Given the description of an element on the screen output the (x, y) to click on. 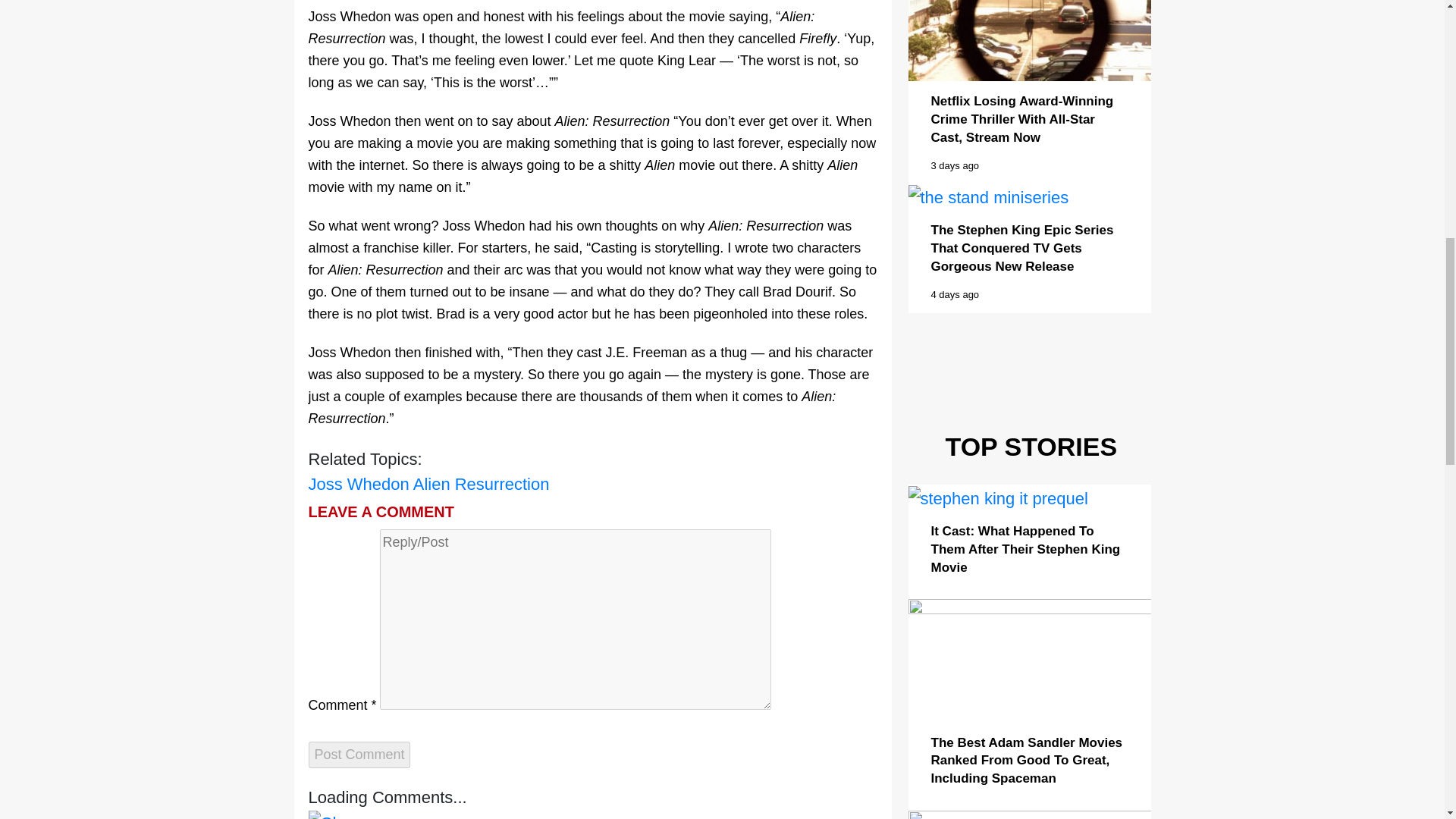
Post Comment (358, 755)
